Given the description of an element on the screen output the (x, y) to click on. 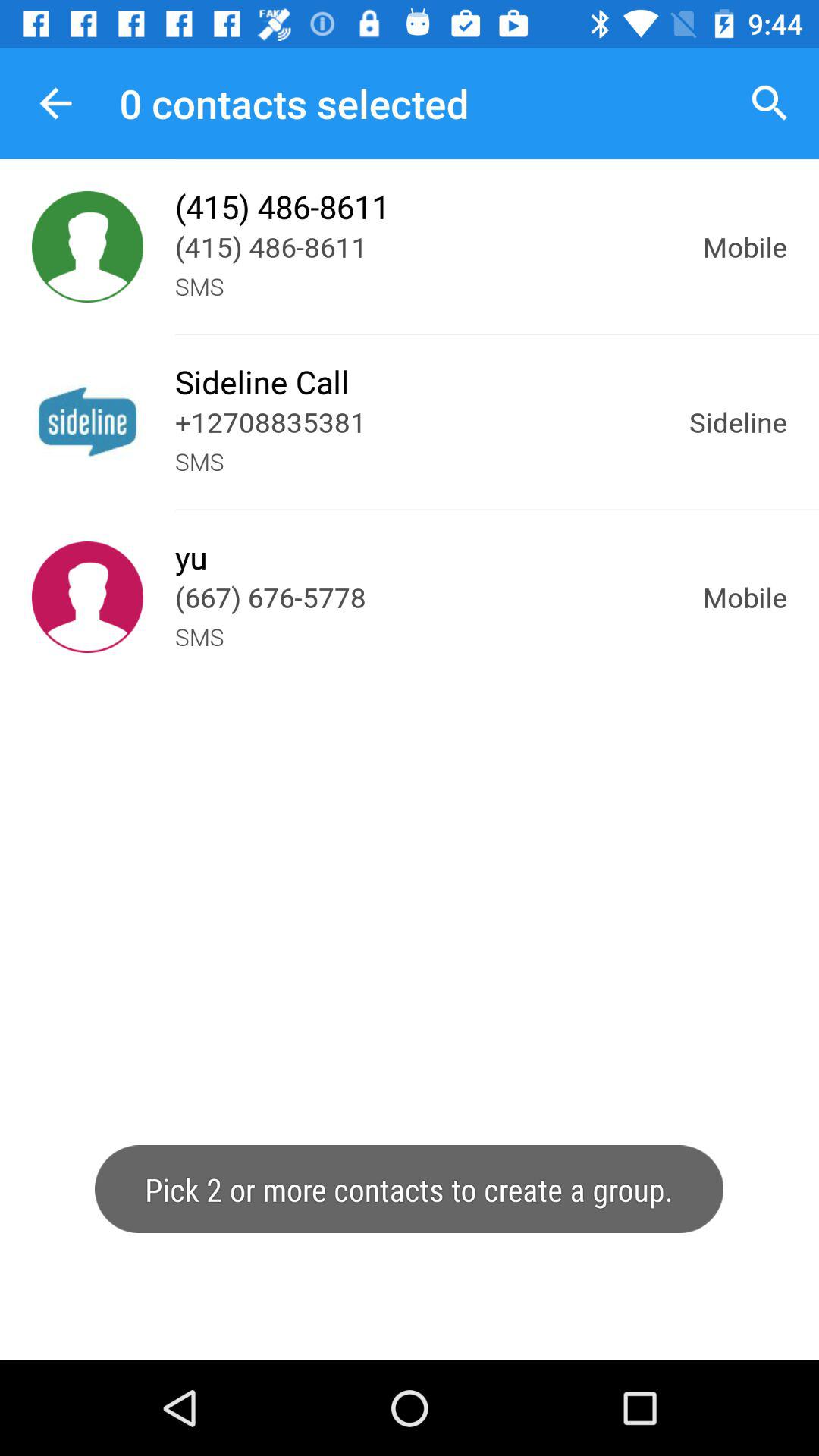
to upload the user profile photo (87, 246)
